Given the description of an element on the screen output the (x, y) to click on. 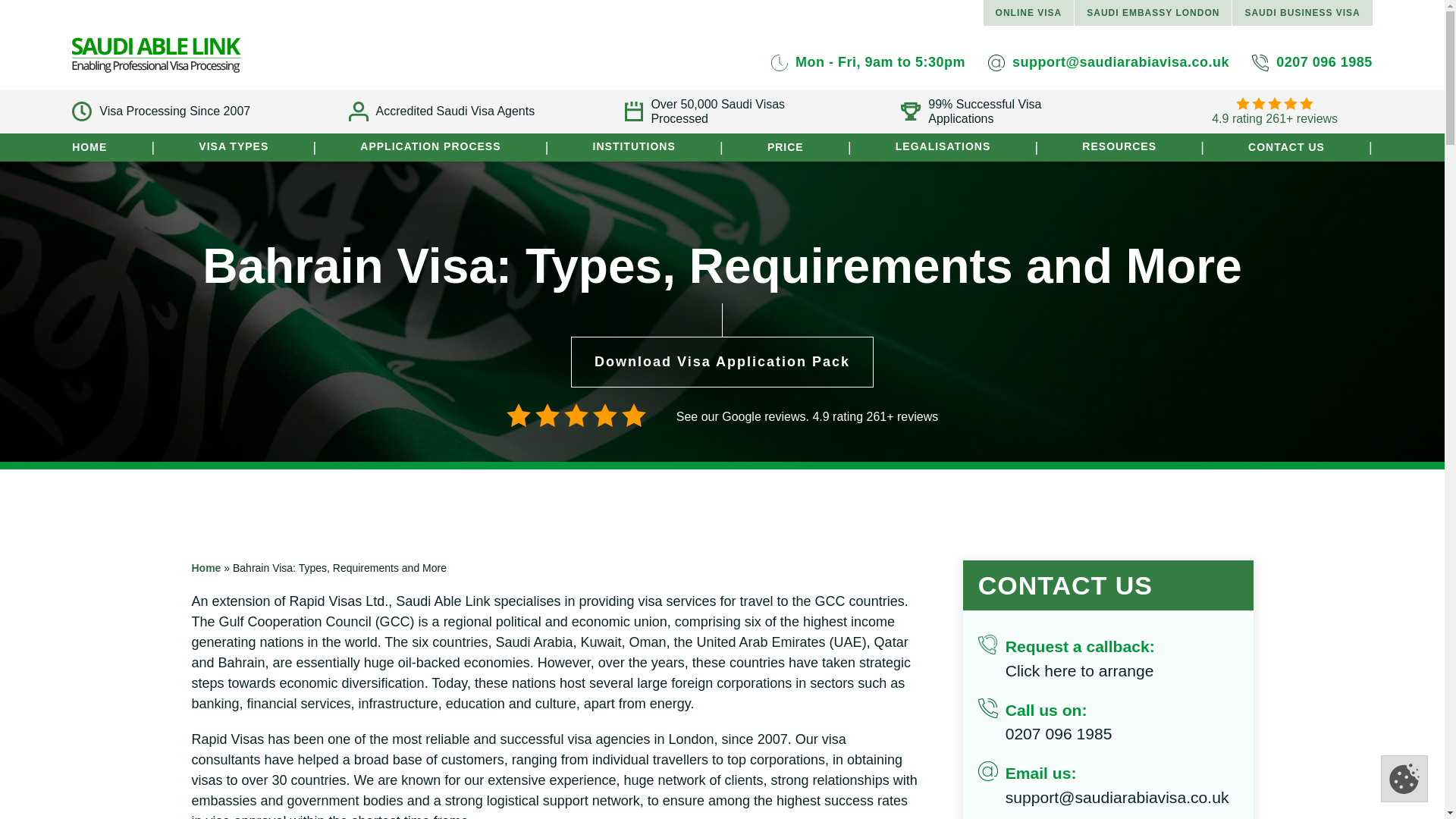
HOME (88, 146)
SAUDI BUSINESS VISA (1301, 12)
0207 096 1985 (1312, 62)
ONLINE VISA (1029, 12)
SAUDI EMBASSY LONDON (1152, 12)
